Given the description of an element on the screen output the (x, y) to click on. 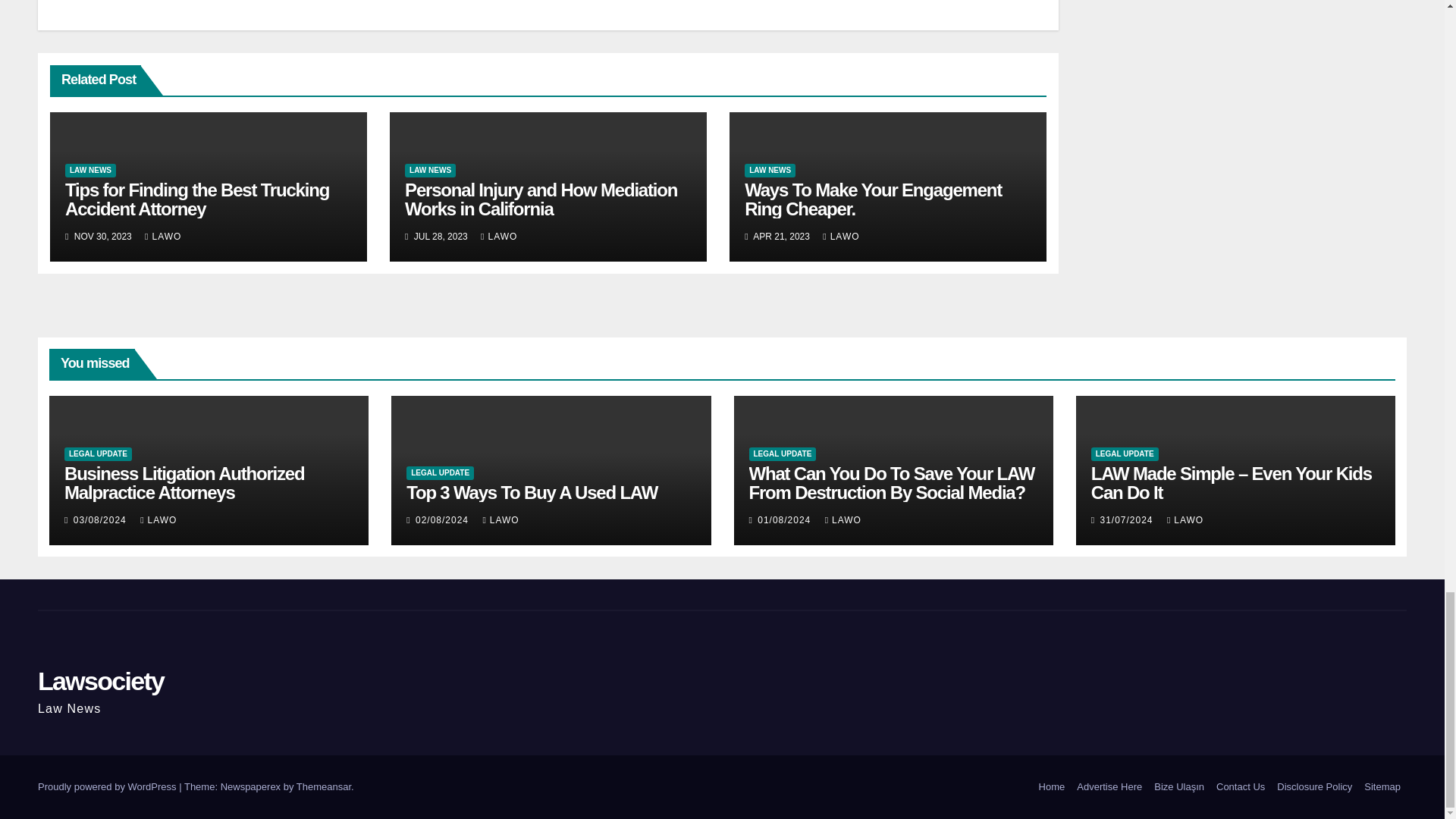
Permalink to: Top 3 Ways To Buy A Used LAW (532, 492)
Tips for Finding the Best Trucking Accident Attorney (197, 199)
Ways To Make Your Engagement Ring Cheaper. (872, 199)
LAW NEWS (769, 170)
LAW NEWS (429, 170)
Home (1051, 786)
LAWO (840, 235)
LAWO (162, 235)
